Given the description of an element on the screen output the (x, y) to click on. 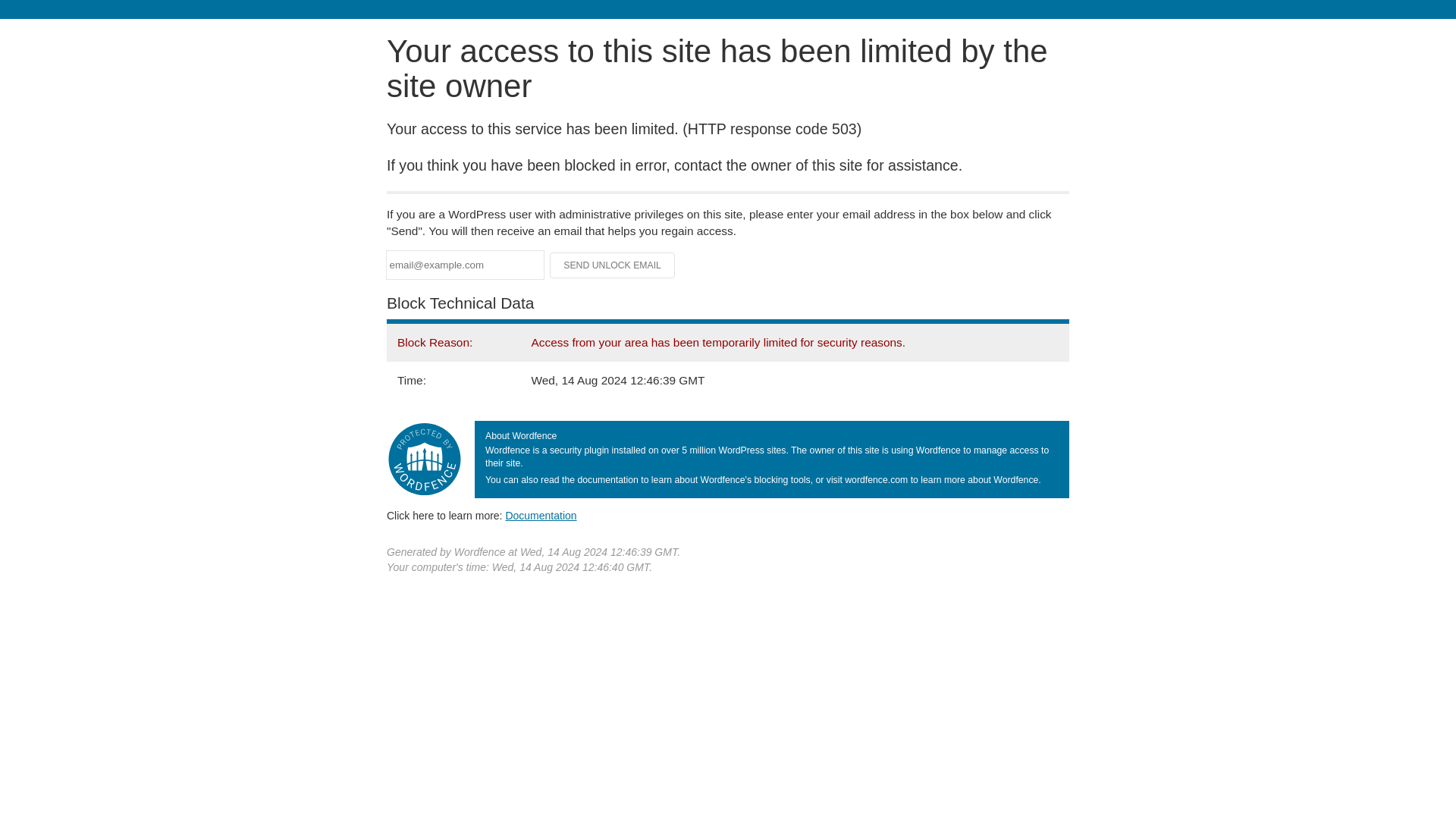
Send Unlock Email (612, 265)
Send Unlock Email (612, 265)
Documentation (540, 515)
